Given the description of an element on the screen output the (x, y) to click on. 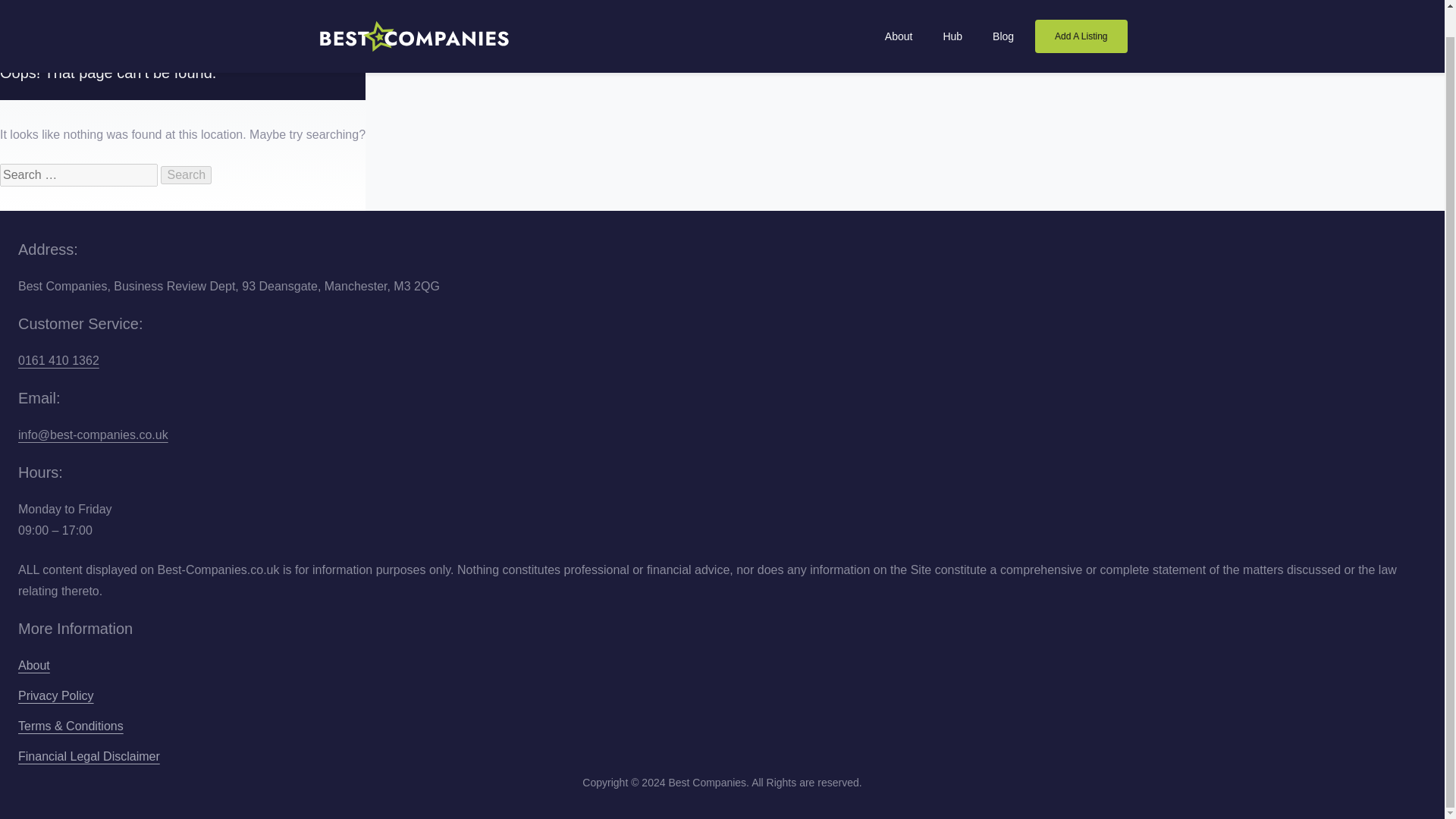
Search (185, 175)
Add A Listing (1080, 12)
Hub (951, 22)
About (33, 665)
Best Companies (413, 14)
0161 410 1362 (58, 359)
Search (185, 175)
About (898, 22)
Privacy Policy (55, 695)
Blog (1002, 22)
Search for: (78, 174)
Search (185, 175)
Financial Legal Disclaimer (88, 756)
